Given the description of an element on the screen output the (x, y) to click on. 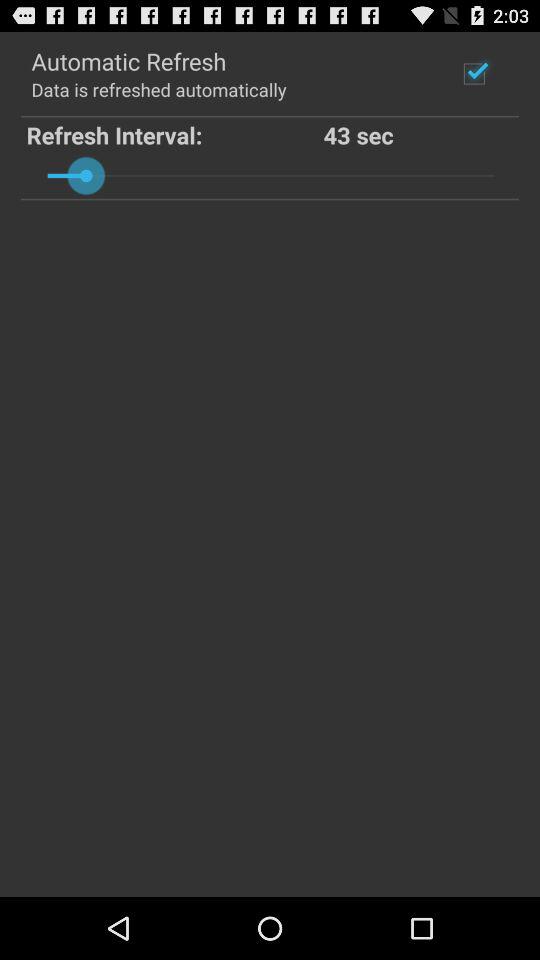
tap the icon above the 43 sec item (474, 73)
